Given the description of an element on the screen output the (x, y) to click on. 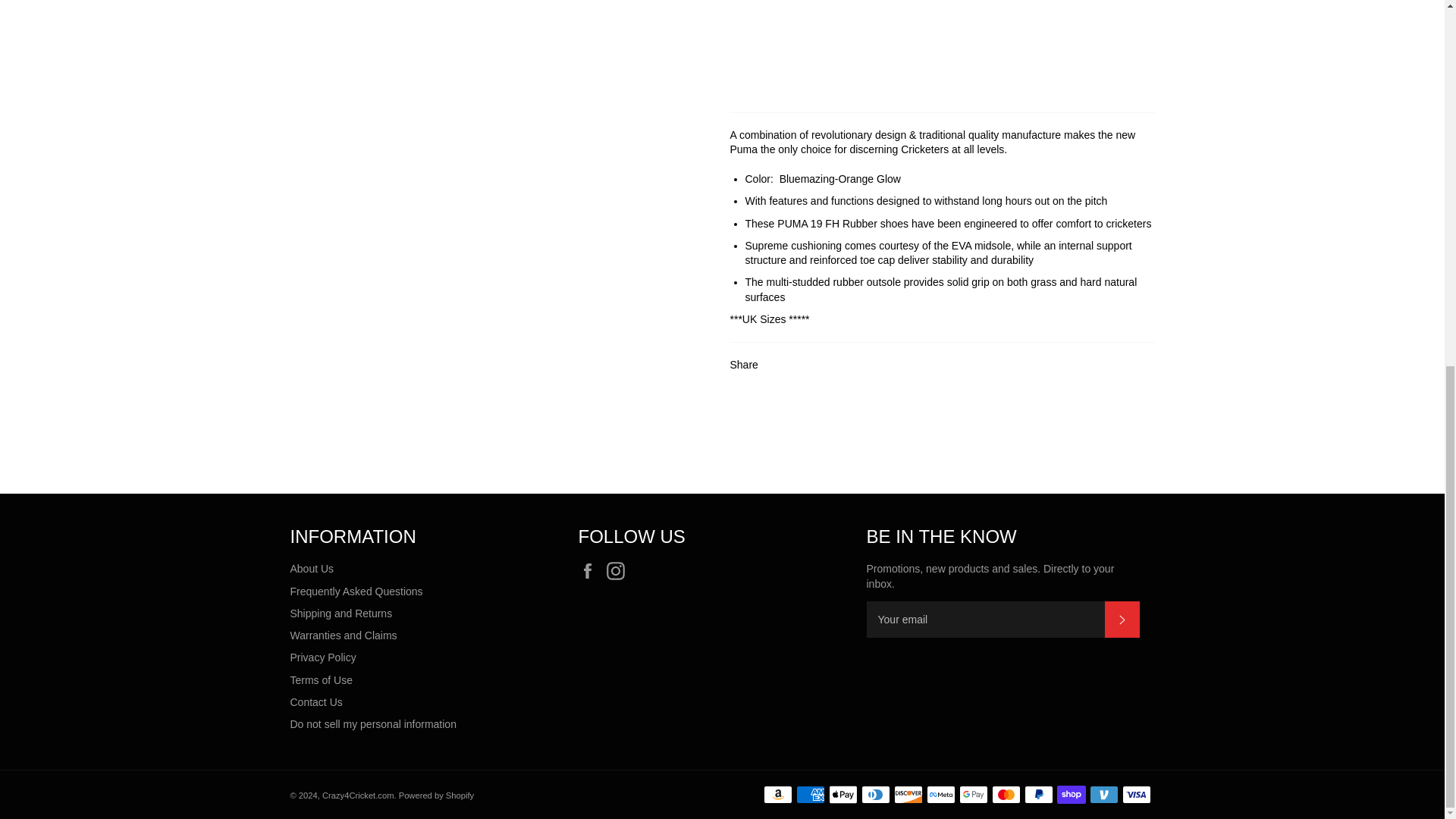
Crazy4Cricket.com on Instagram (619, 570)
Crazy4Cricket.com on Facebook (591, 570)
